Given the description of an element on the screen output the (x, y) to click on. 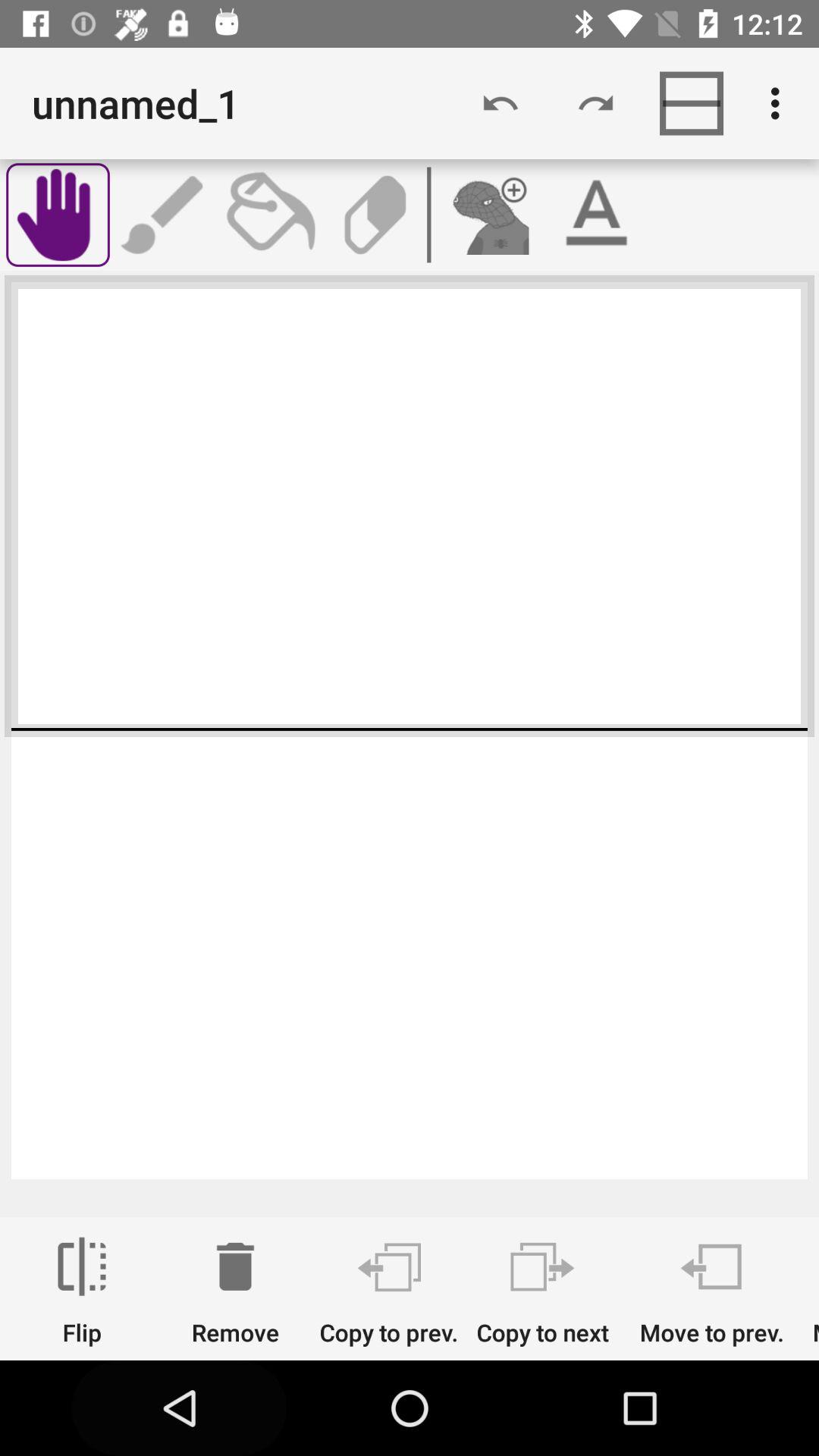
choose the icon next to remove (81, 1291)
